Given the description of an element on the screen output the (x, y) to click on. 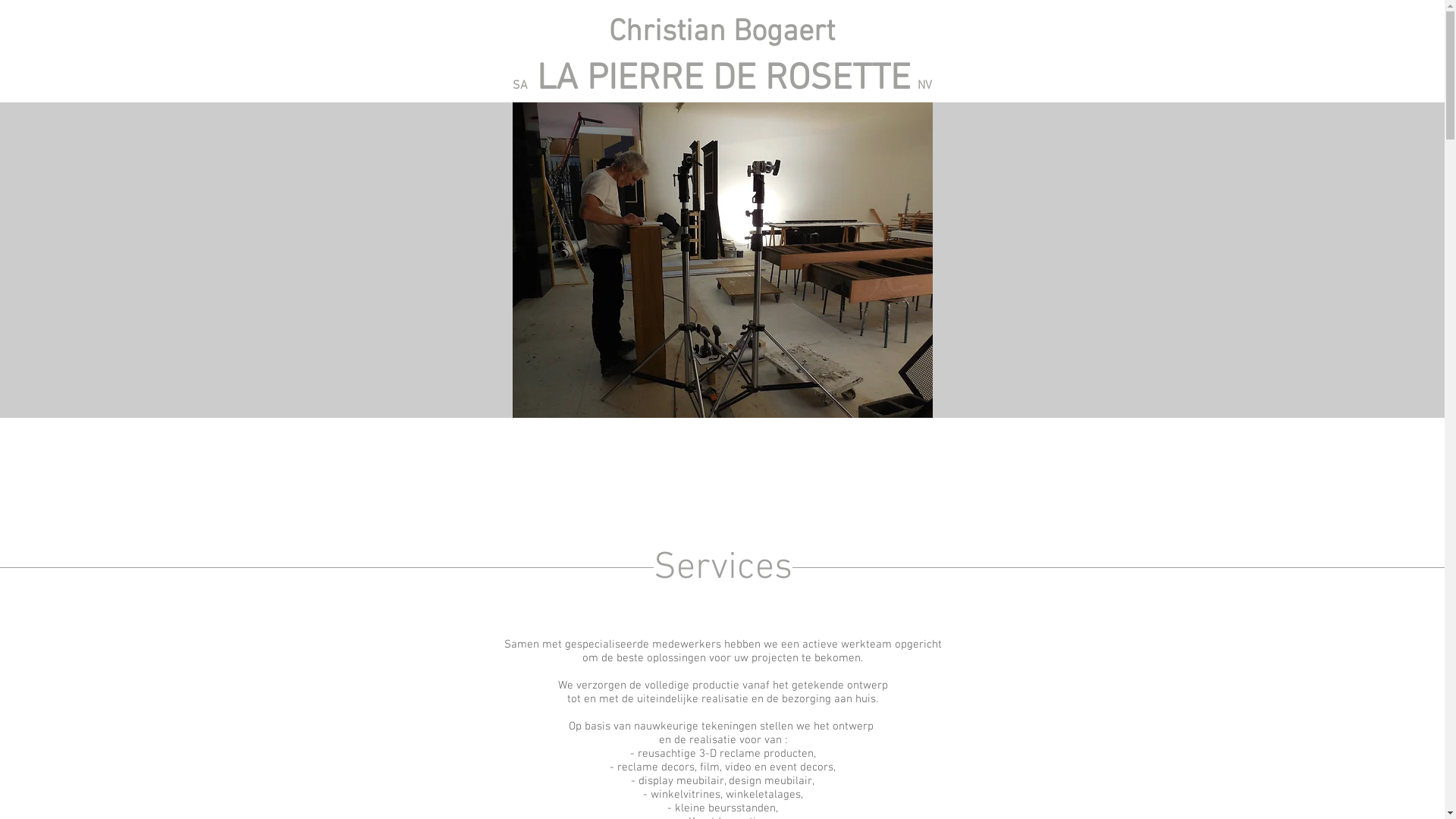
Christian Bogaert Element type: text (721, 32)
